Given the description of an element on the screen output the (x, y) to click on. 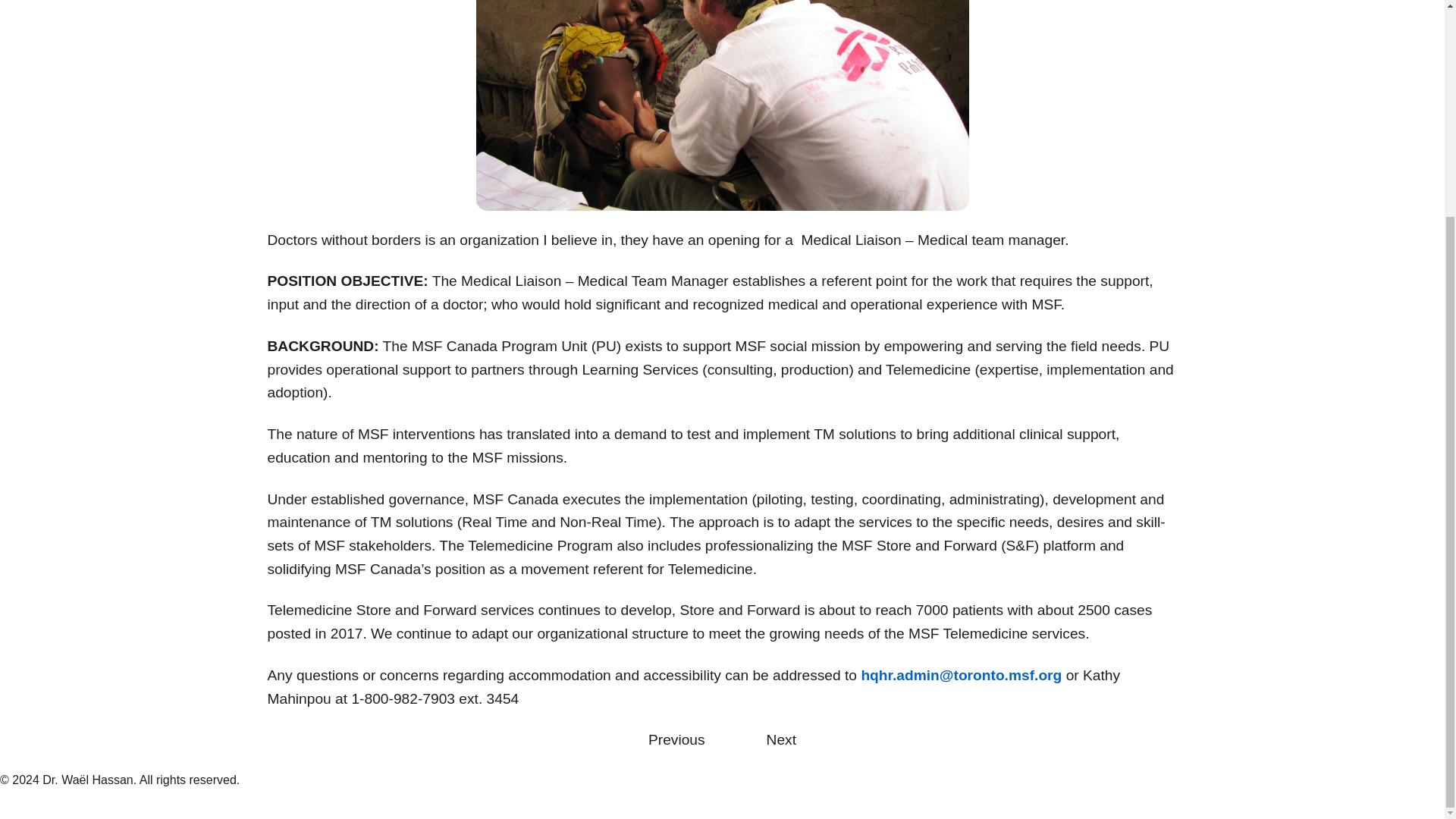
1-800-982-7903 (402, 698)
Next (781, 739)
Previous (675, 739)
